Given the description of an element on the screen output the (x, y) to click on. 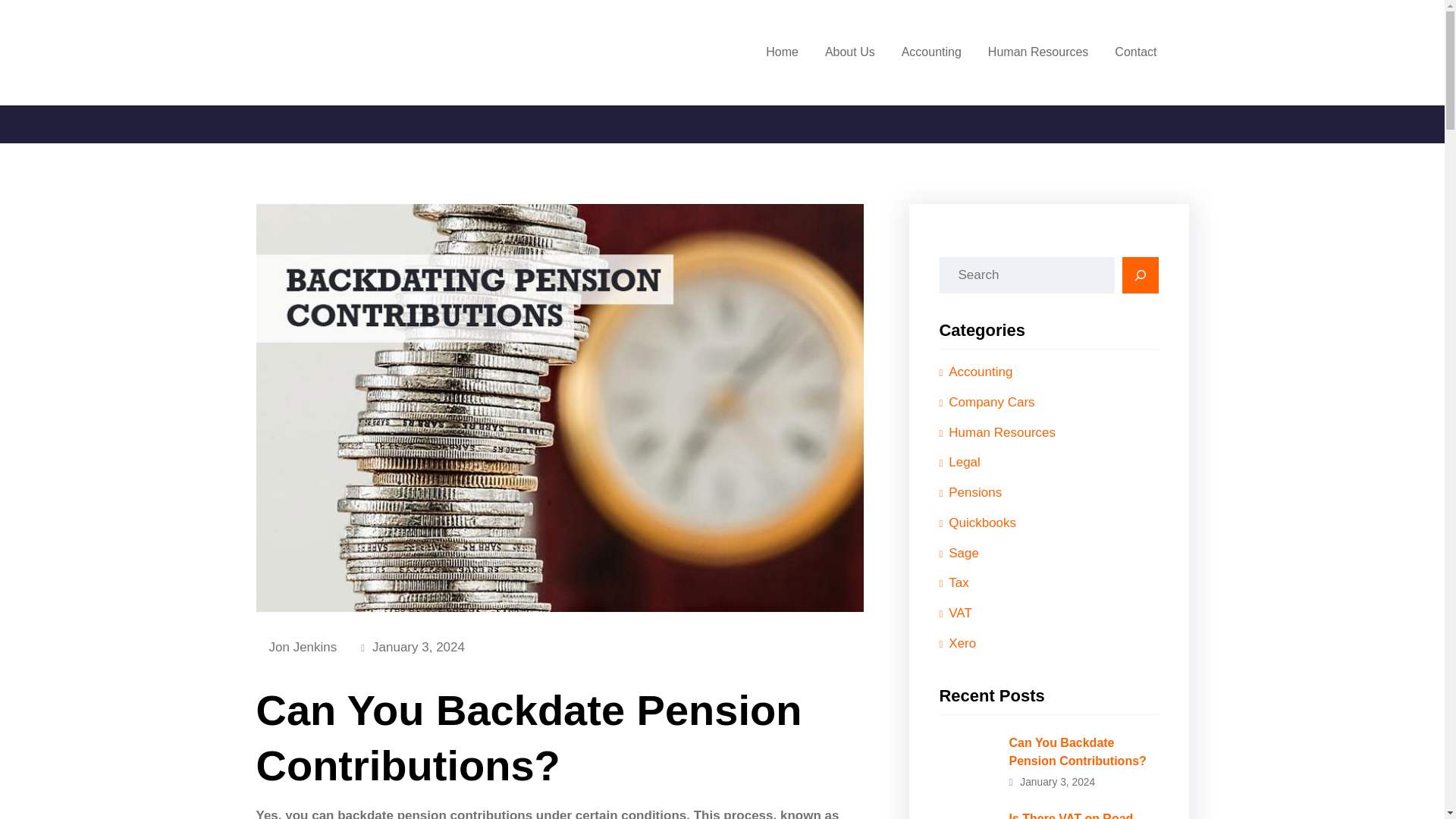
Pensions (970, 492)
Legal (959, 462)
Xero (957, 643)
About Us (849, 51)
Is There VAT on Road Tax? (1048, 812)
Can You Backdate Pension Contributions? (1048, 750)
Home (782, 51)
Accounting (975, 372)
Company Cars (986, 402)
Tax (953, 583)
